Given the description of an element on the screen output the (x, y) to click on. 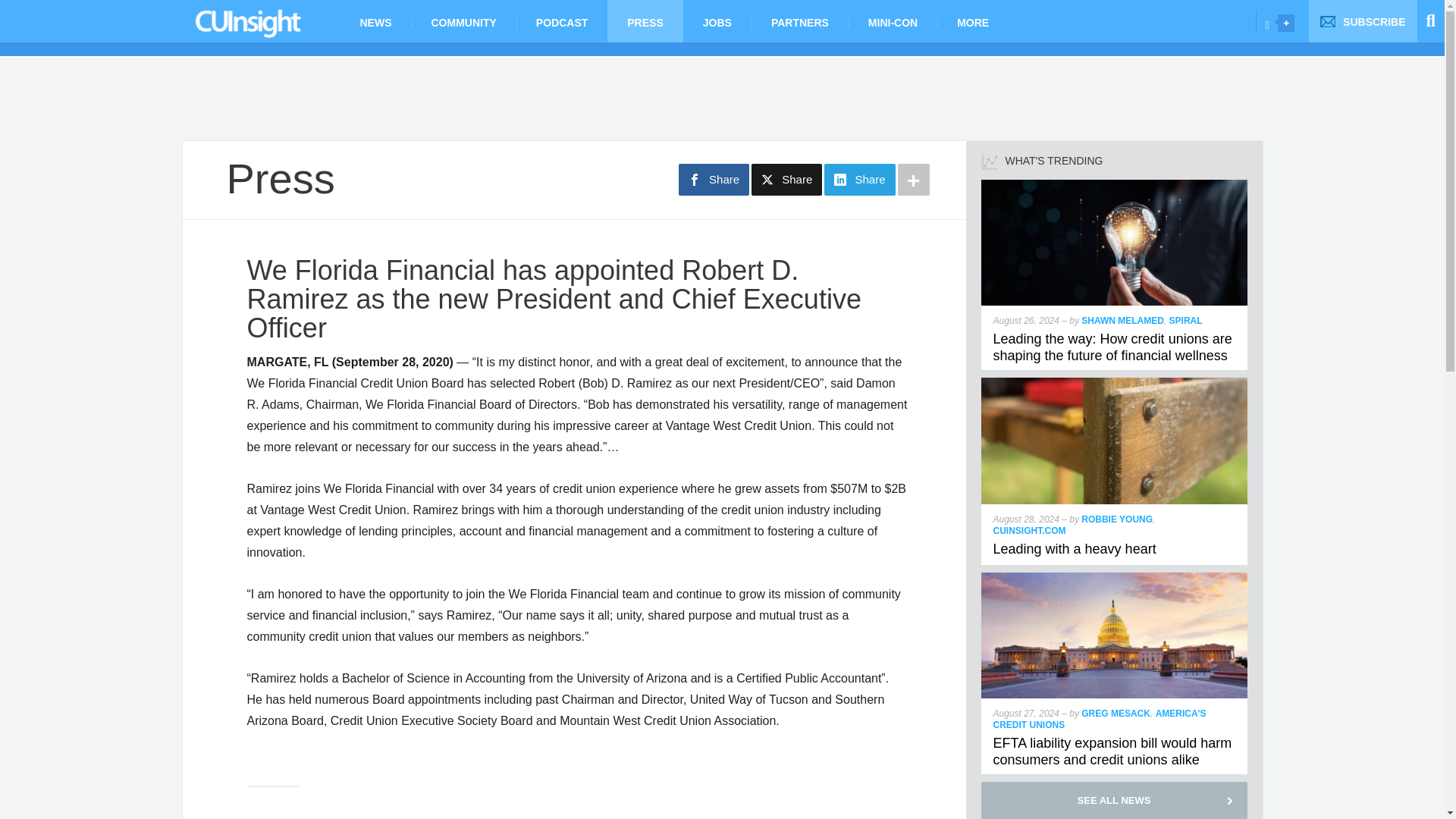
Share (859, 179)
Share (713, 179)
JOBS (716, 21)
Share (786, 179)
Press (279, 178)
PRESS (644, 21)
NEWS (374, 21)
PODCAST (561, 21)
